Given the description of an element on the screen output the (x, y) to click on. 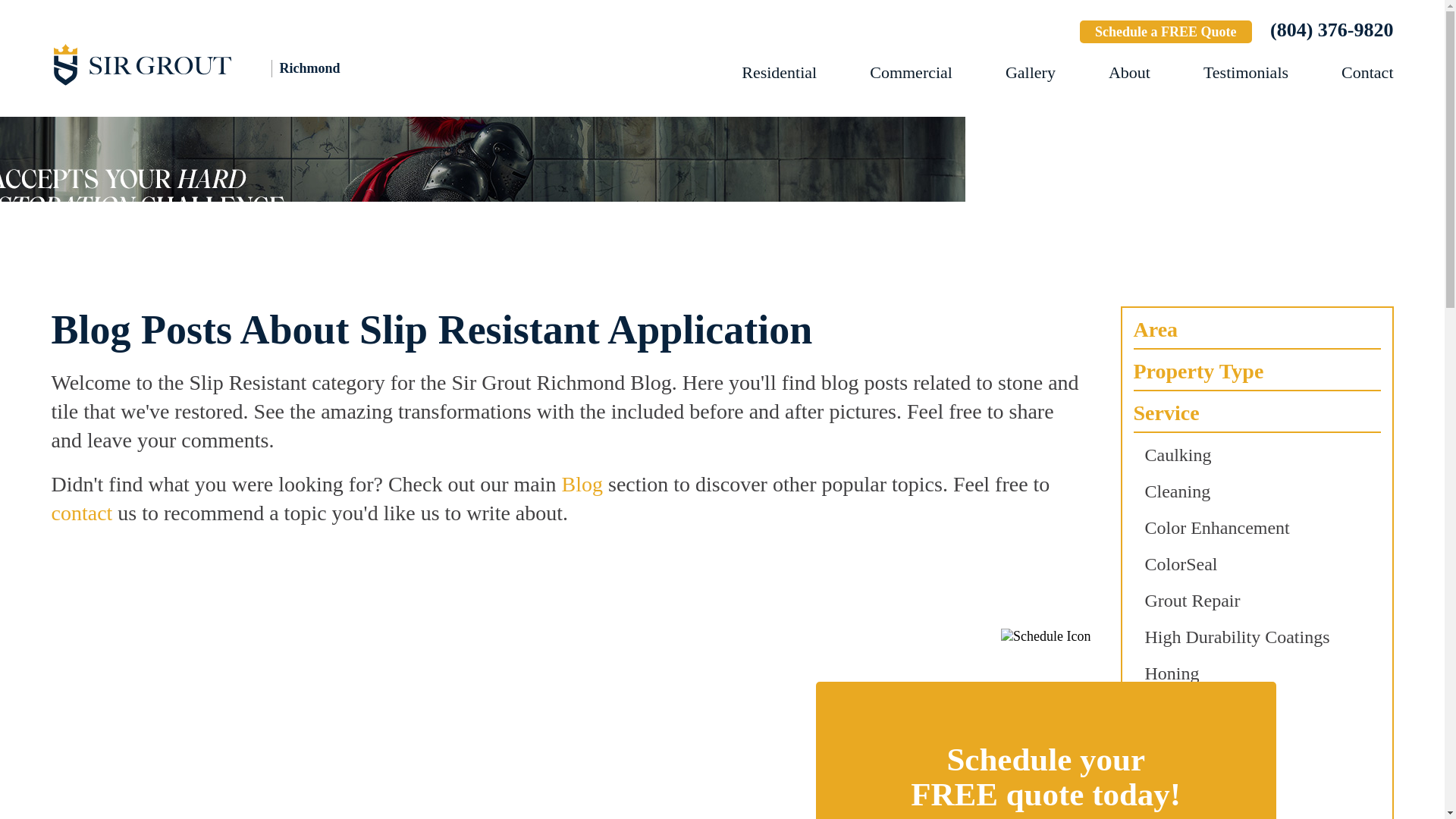
Schedule a FREE Quote (1166, 31)
Richmond (217, 64)
Write a Review (1013, 32)
Sir Grout Richmond (217, 64)
Write a Review (1013, 32)
Commercial (910, 72)
Call Sir Grout Richmond (1331, 29)
About (1129, 72)
Gallery (1030, 72)
Residential Services (778, 72)
